Given the description of an element on the screen output the (x, y) to click on. 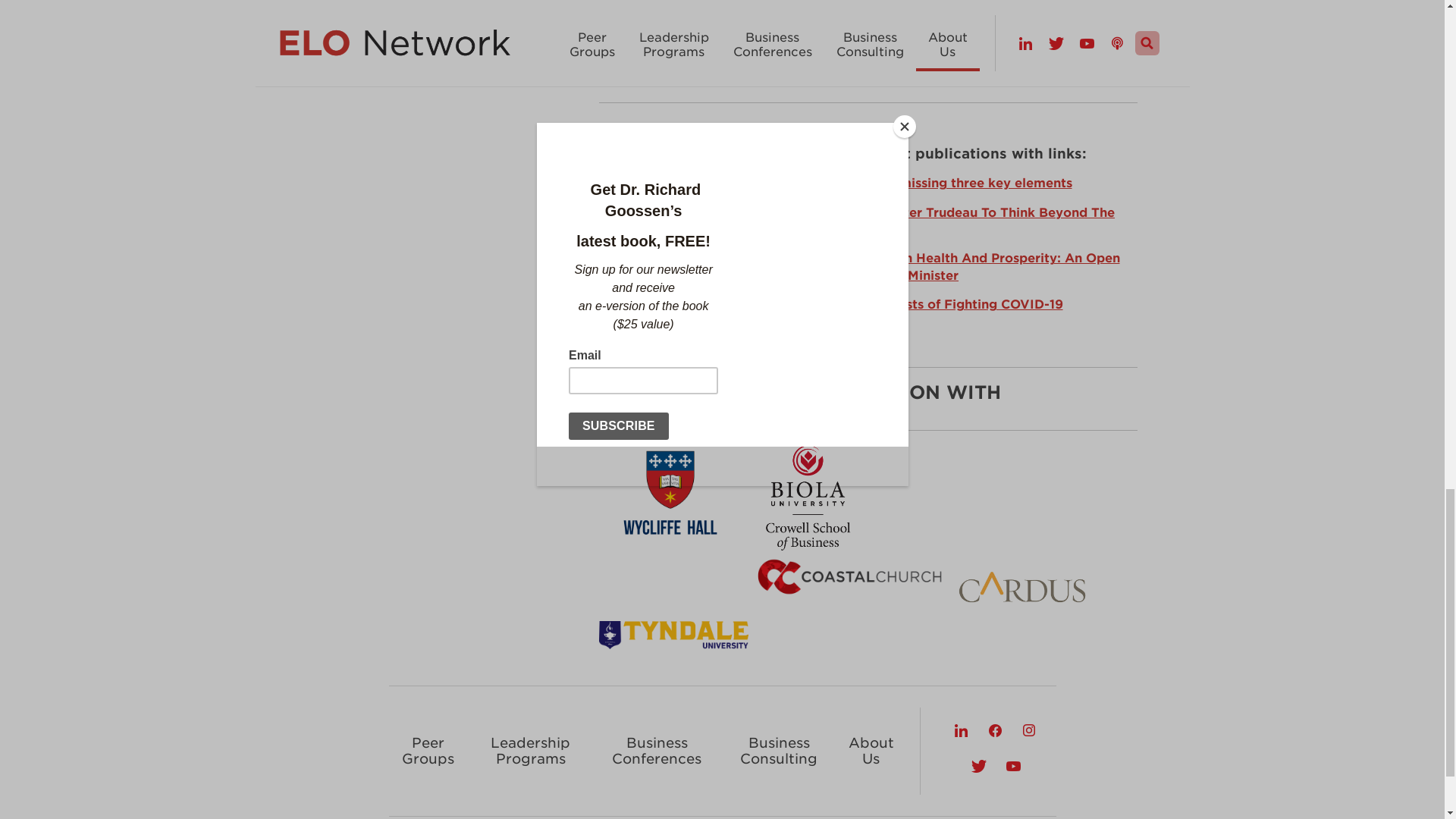
Facing the Human and Economic Costs of Fighting COVID-19 (868, 304)
